Given the description of an element on the screen output the (x, y) to click on. 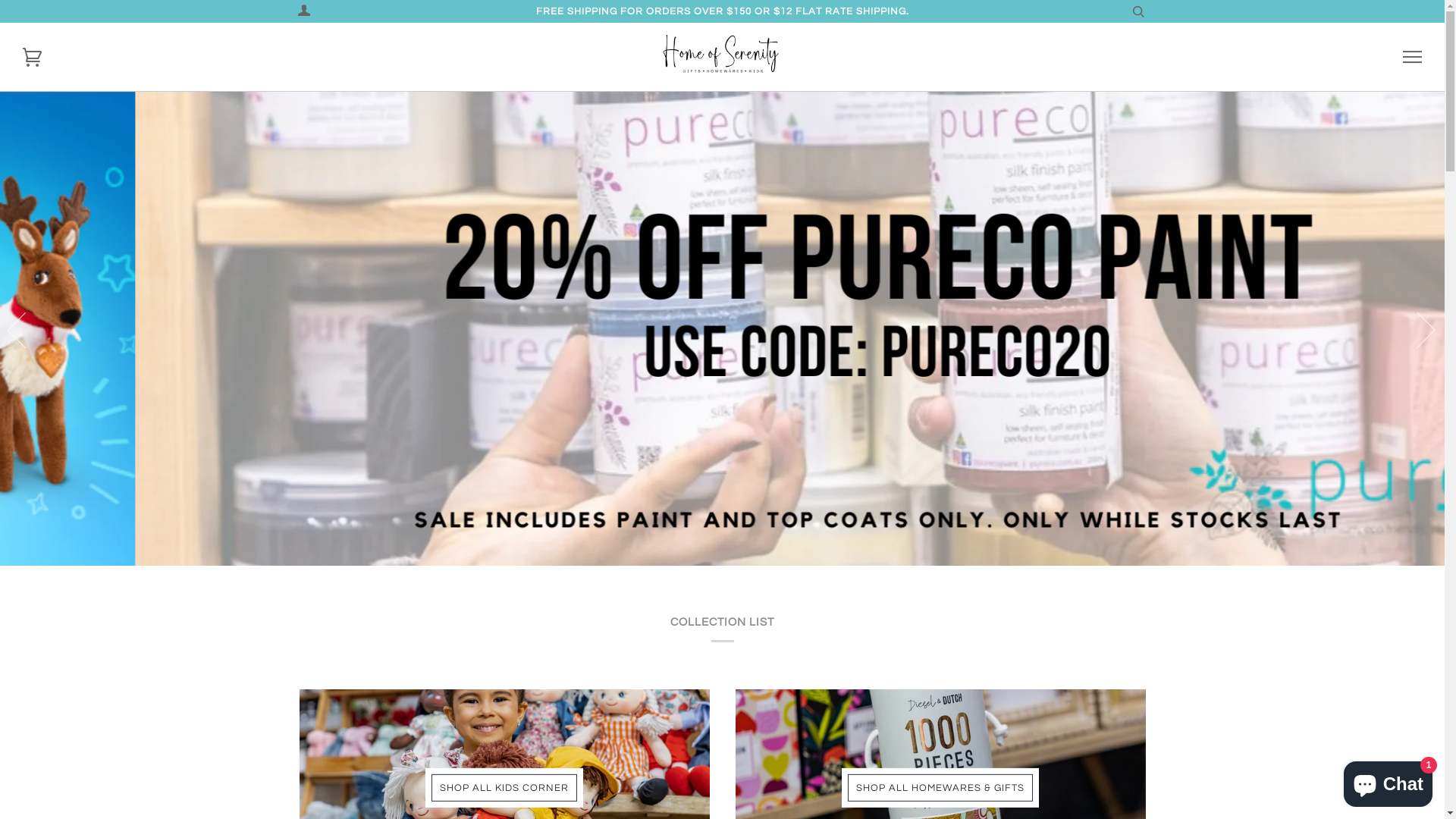
Next Element type: text (1416, 329)
Previous Element type: text (25, 329)
Shopify online store chat Element type: hover (1388, 780)
